Given the description of an element on the screen output the (x, y) to click on. 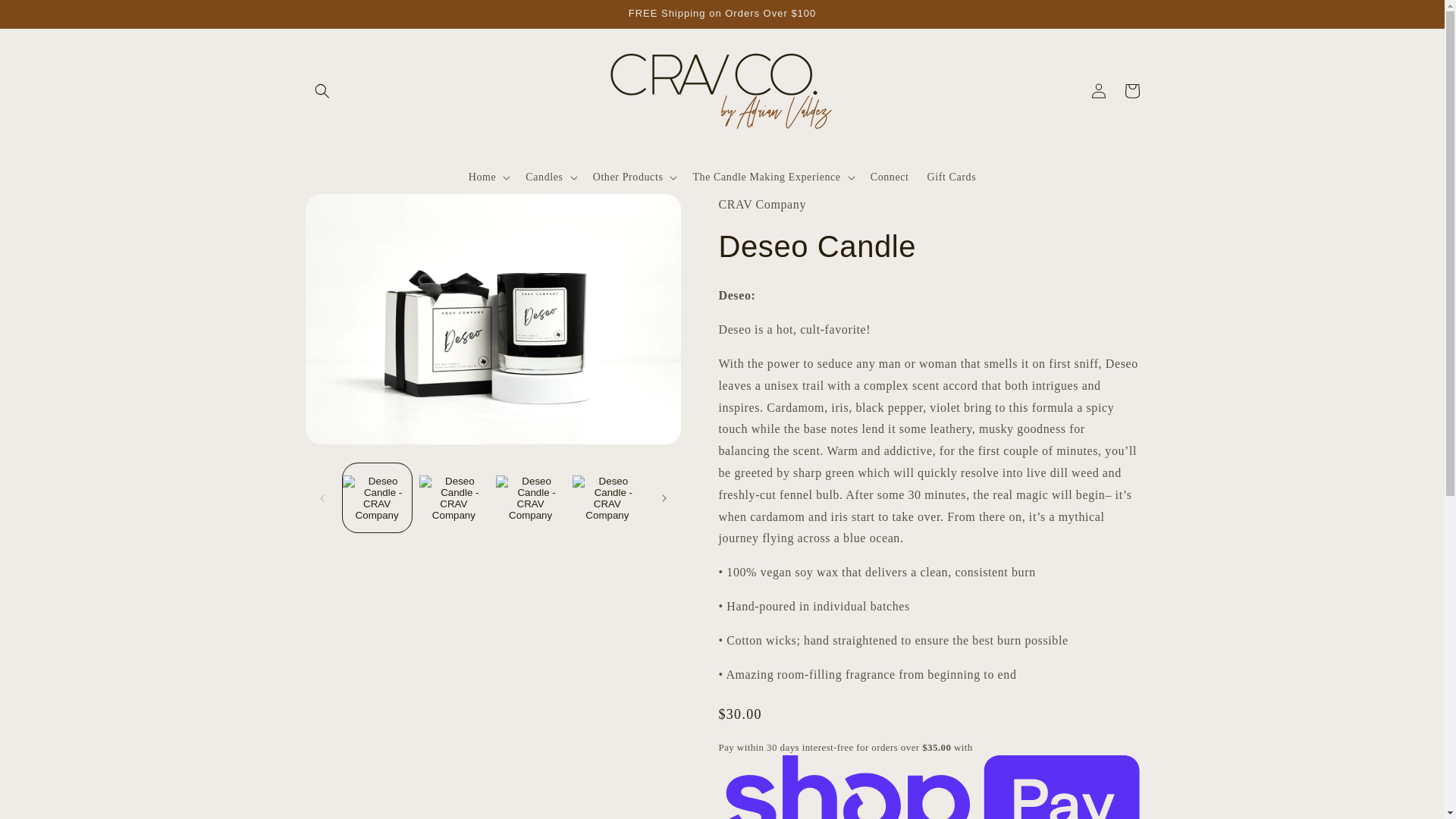
Skip to content (45, 17)
